Given the description of an element on the screen output the (x, y) to click on. 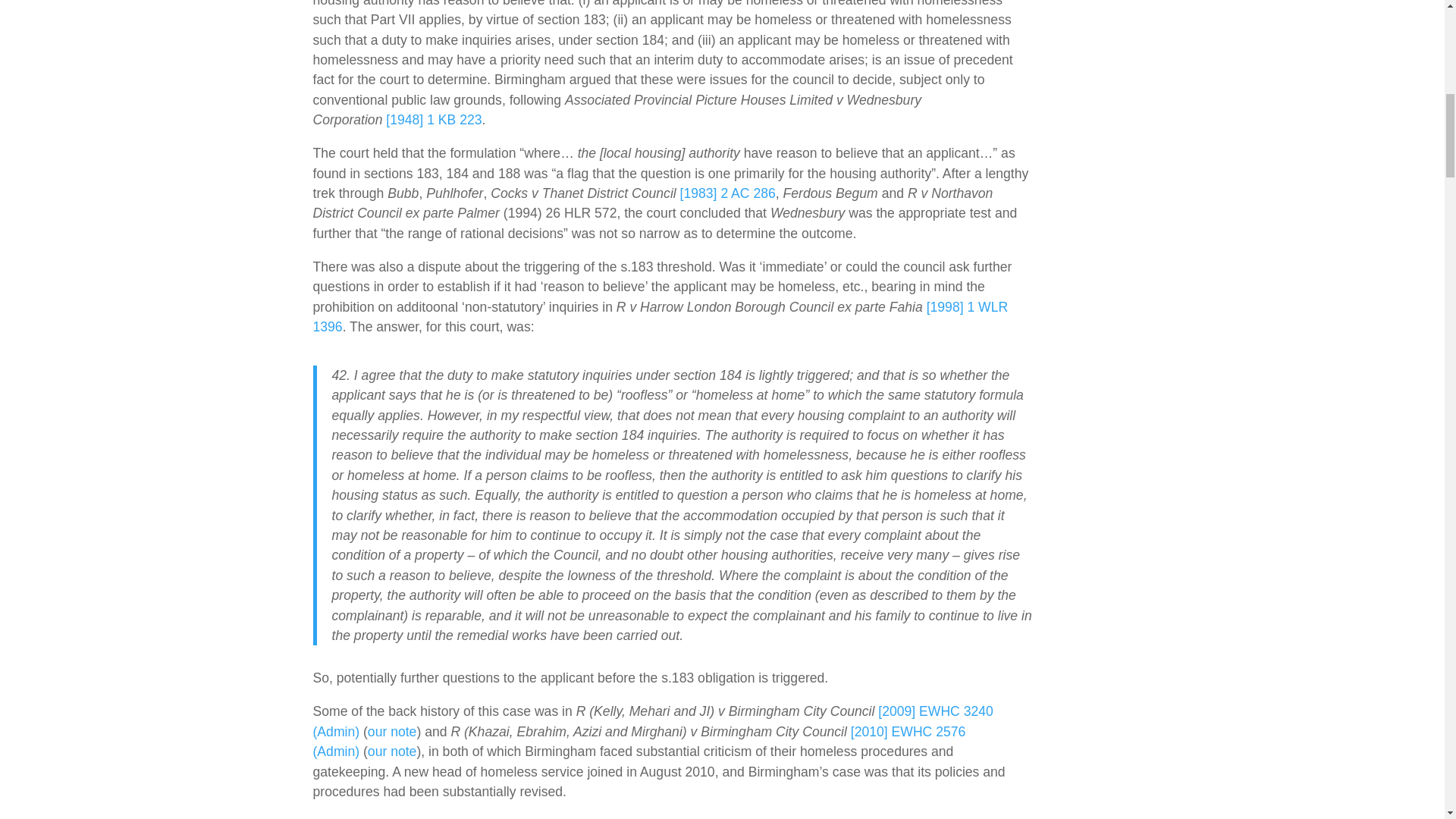
Link to BAILII version (727, 192)
Link to BAILII version (639, 741)
Link to BAILII version (660, 316)
Link to BAILII version (652, 720)
Link to BAILII version (433, 119)
